Given the description of an element on the screen output the (x, y) to click on. 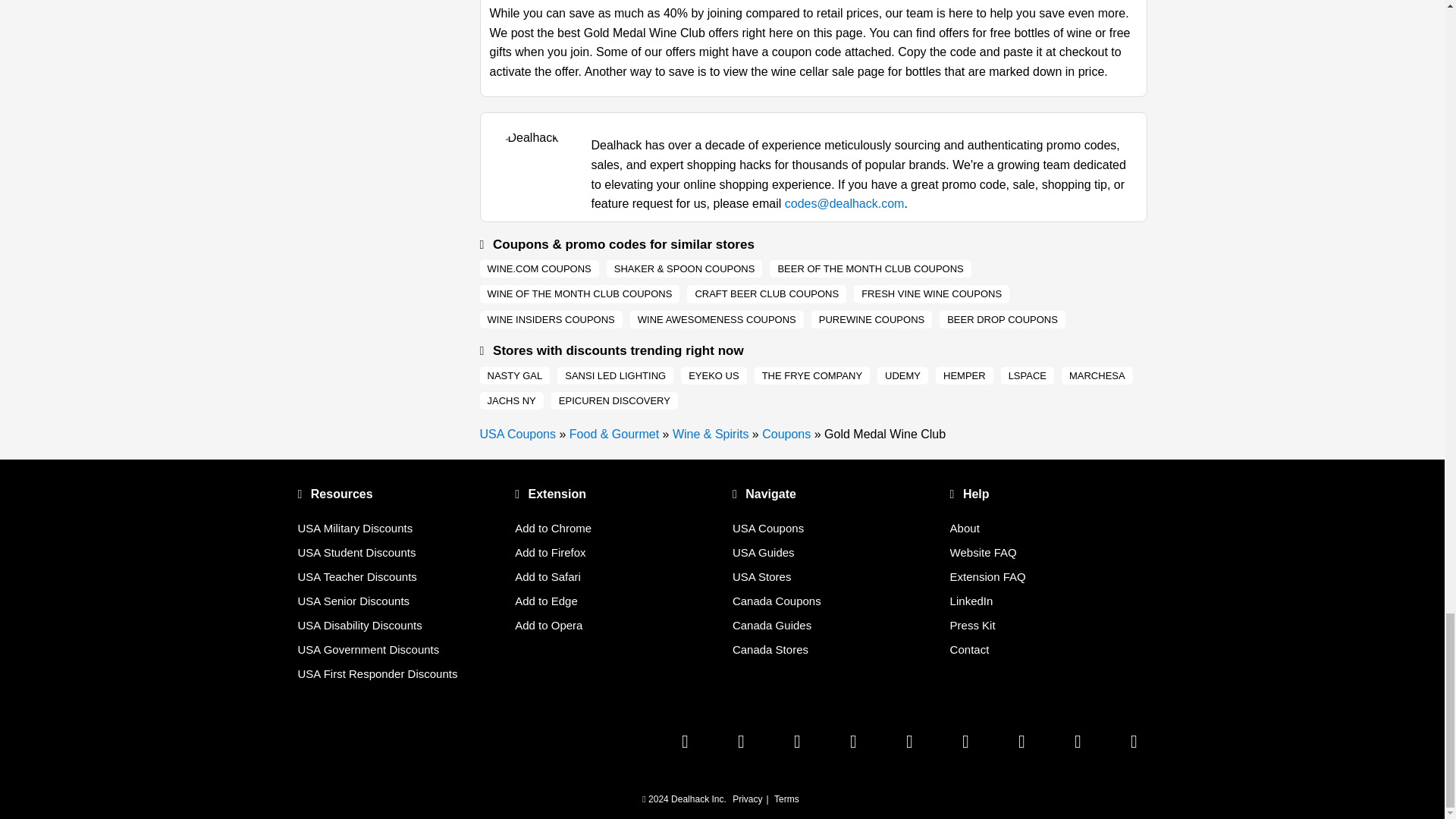
Coupons (785, 433)
Dealhack (517, 433)
